Given the description of an element on the screen output the (x, y) to click on. 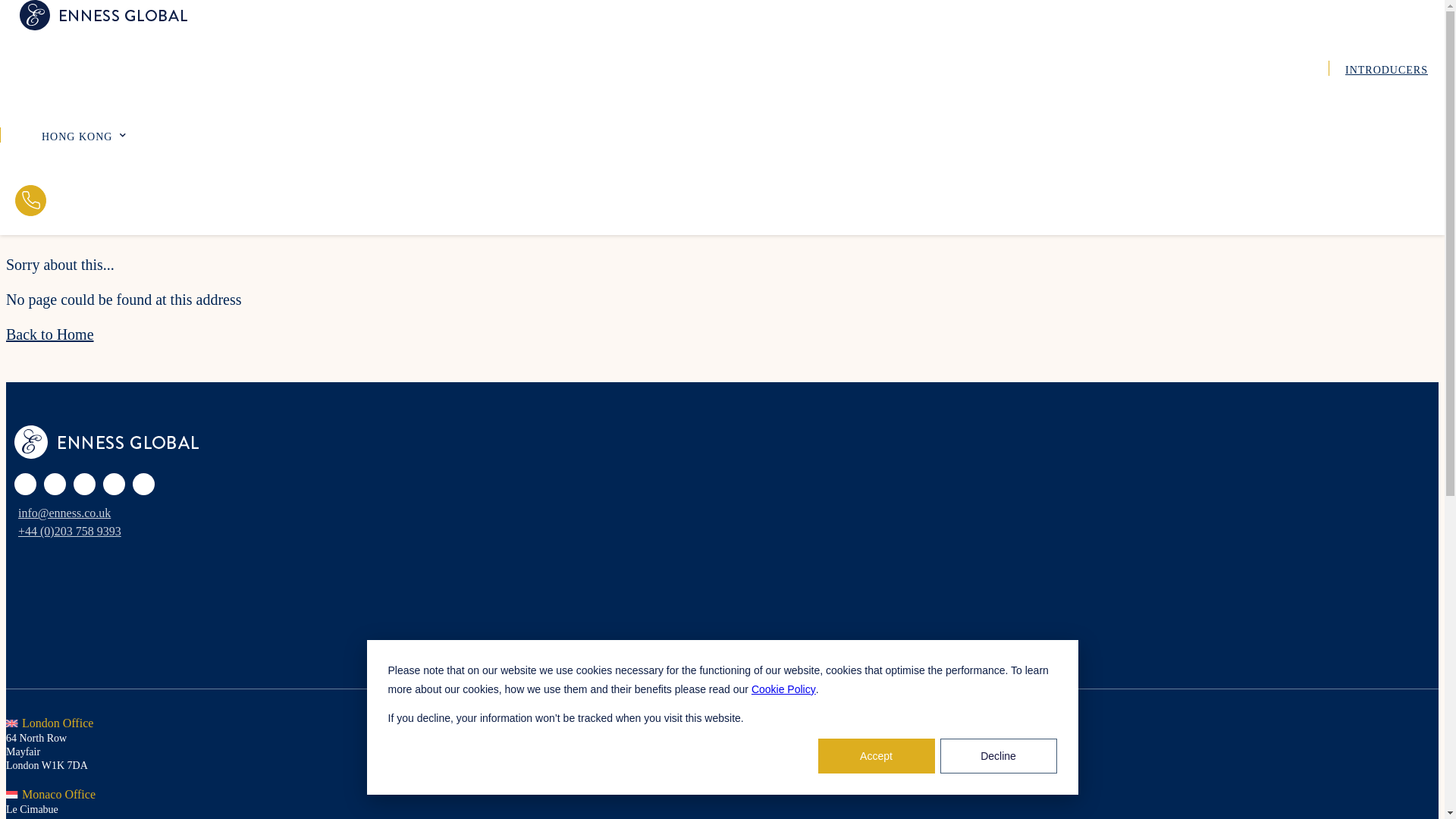
Logo (103, 15)
Contact number (30, 201)
Back to Home (49, 334)
Logo (106, 441)
en (69, 134)
HONG KONG (69, 134)
